Given the description of an element on the screen output the (x, y) to click on. 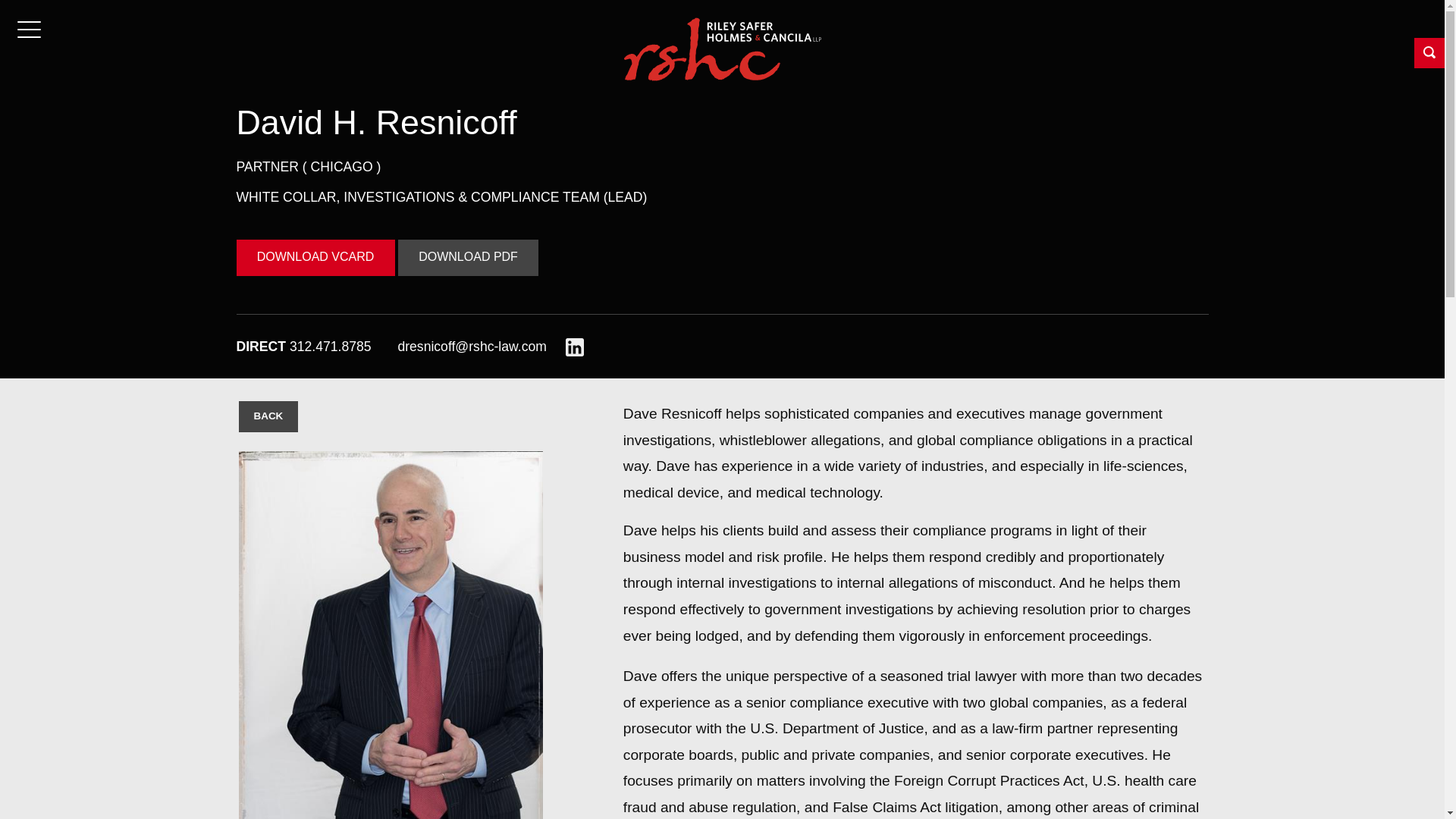
Chambers 2023 Badge (1271, 765)
LINKEDIN (73, 739)
FACEBOOK (18, 739)
BACK (268, 416)
2023 Diversity Award Winner Logo Badge (1382, 763)
DOWNLOAD VCARD (314, 257)
DOWNLOAD PDF (467, 257)
LinkedIn (574, 346)
TWITTER (46, 739)
Menu (30, 30)
